Given the description of an element on the screen output the (x, y) to click on. 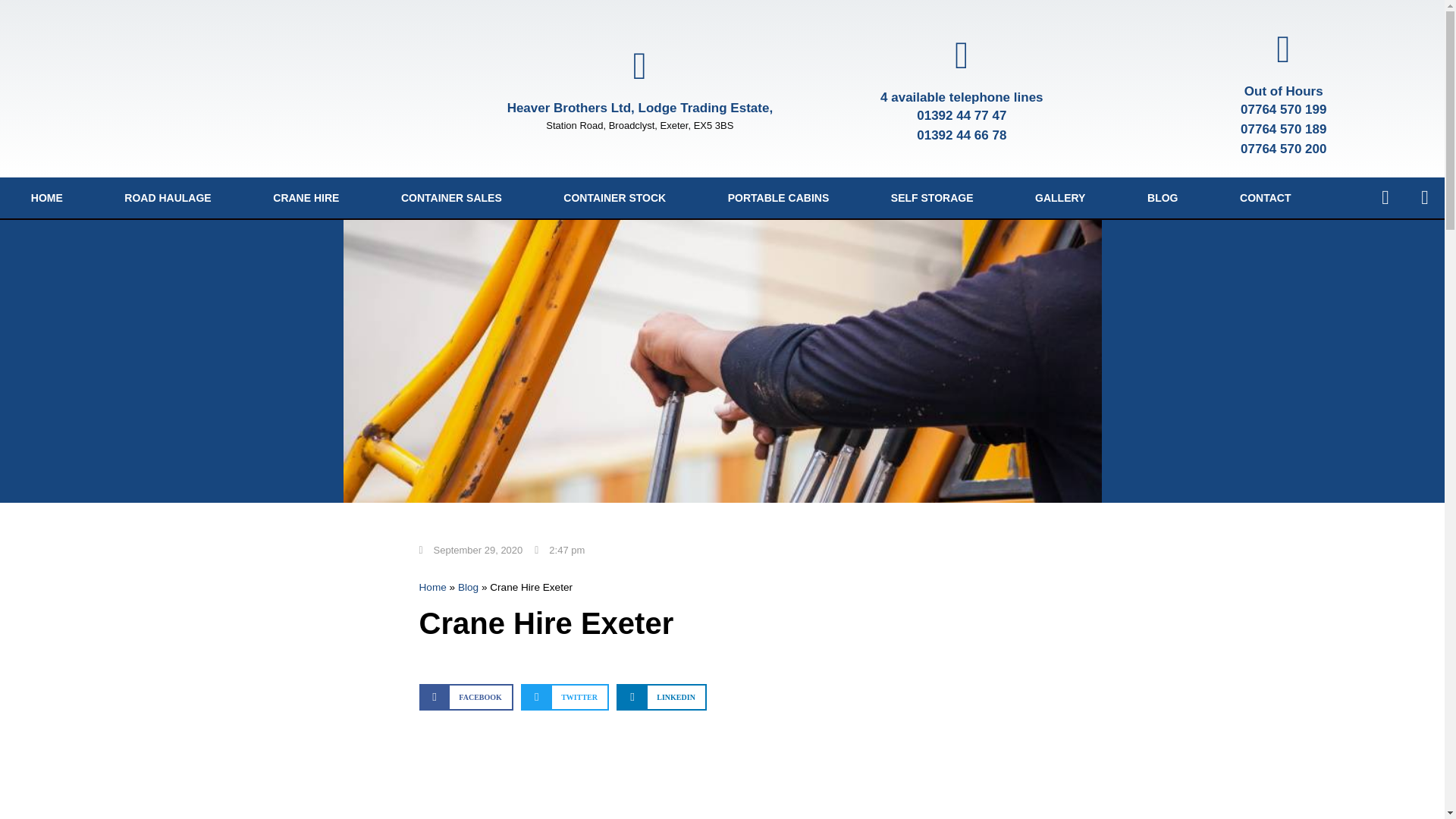
Blog (468, 586)
07764 570 189 (1283, 129)
4 available telephone lines (961, 96)
CRANE HIRE (307, 197)
GALLERY (1060, 197)
PORTABLE CABINS (778, 197)
ROAD HAULAGE (168, 197)
07764 570 199 (1283, 109)
HOME (47, 197)
CONTAINER STOCK (614, 197)
